Given the description of an element on the screen output the (x, y) to click on. 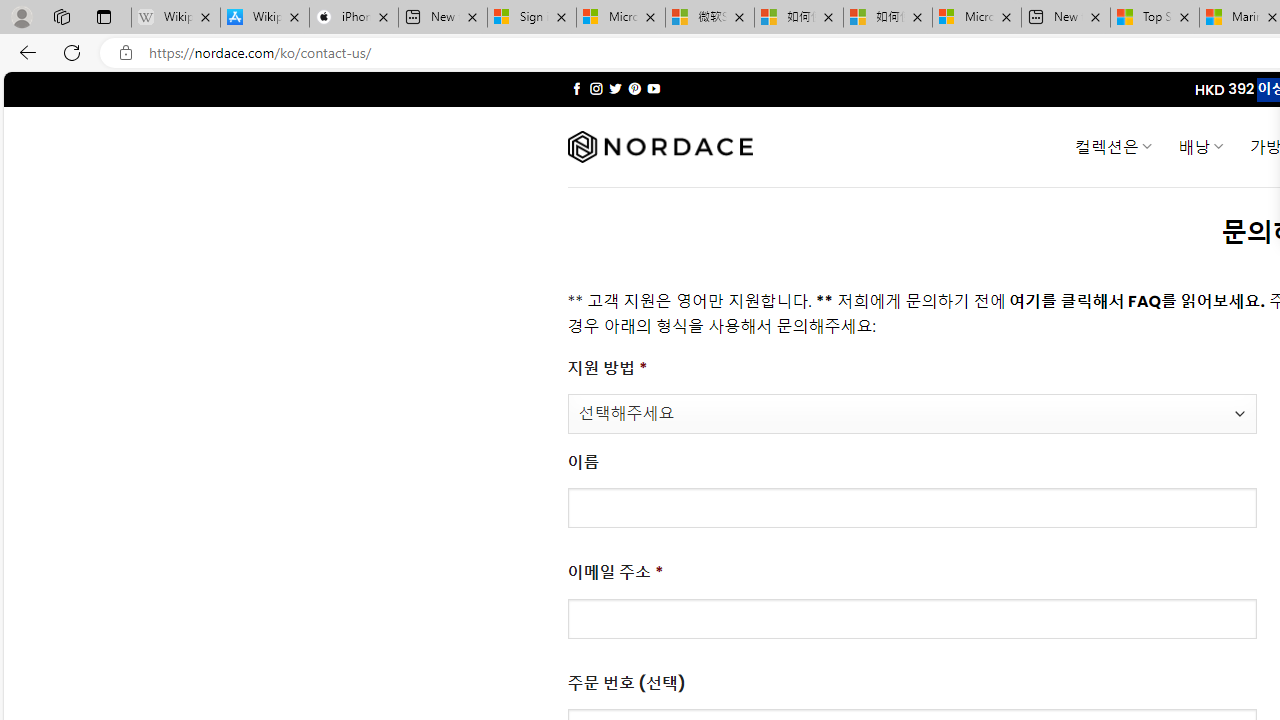
Top Stories - MSN (1155, 17)
New tab (1065, 17)
Follow on YouTube (653, 88)
Follow on Facebook (576, 88)
Follow on Pinterest (634, 88)
Workspaces (61, 16)
Wikipedia - Sleeping (175, 17)
Nordace (659, 147)
Microsoft Services Agreement (621, 17)
Nordace (659, 147)
Refresh (72, 52)
View site information (125, 53)
